Given the description of an element on the screen output the (x, y) to click on. 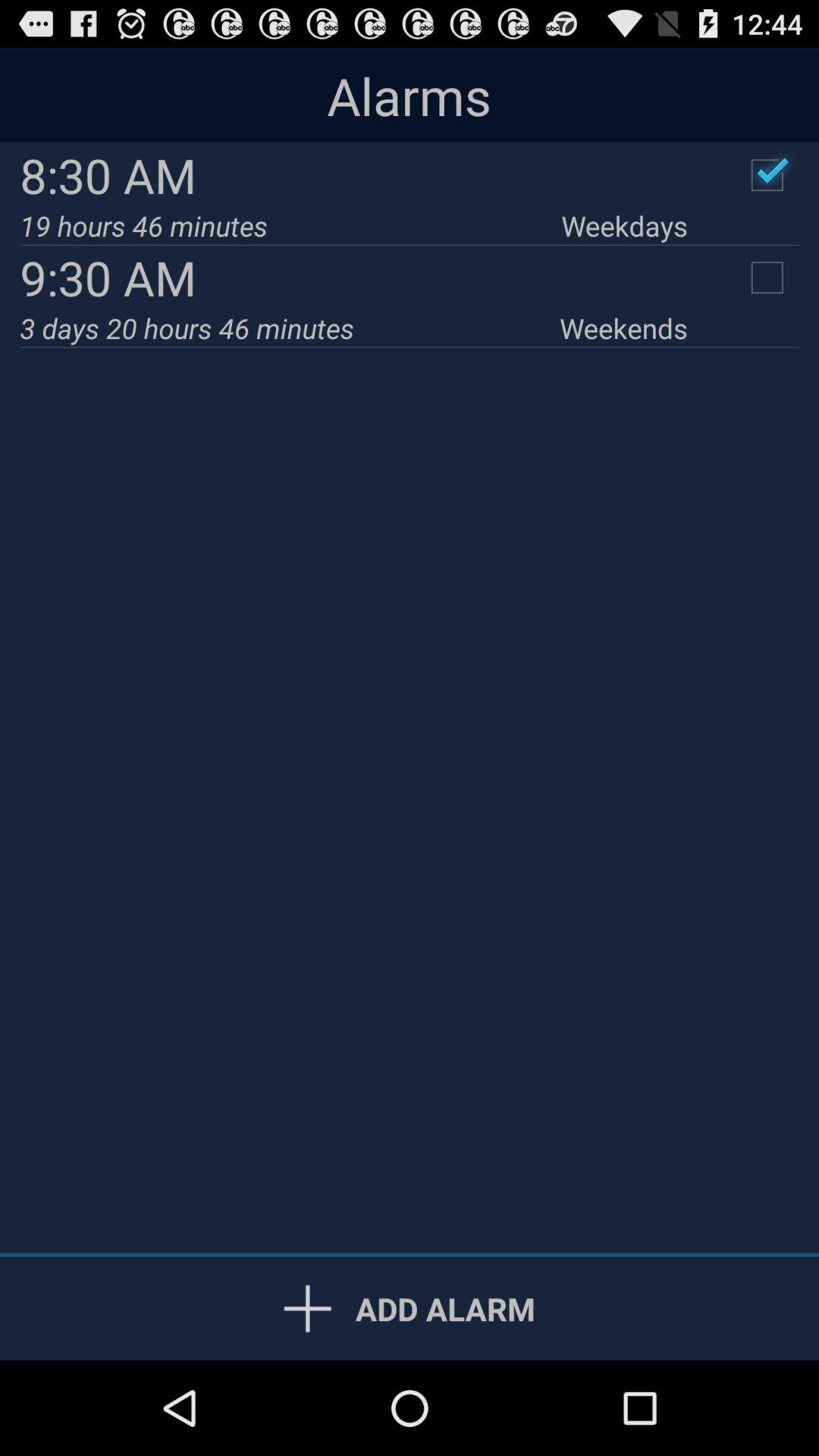
click the icon to the right of 19 hours 46 icon (624, 225)
